Given the description of an element on the screen output the (x, y) to click on. 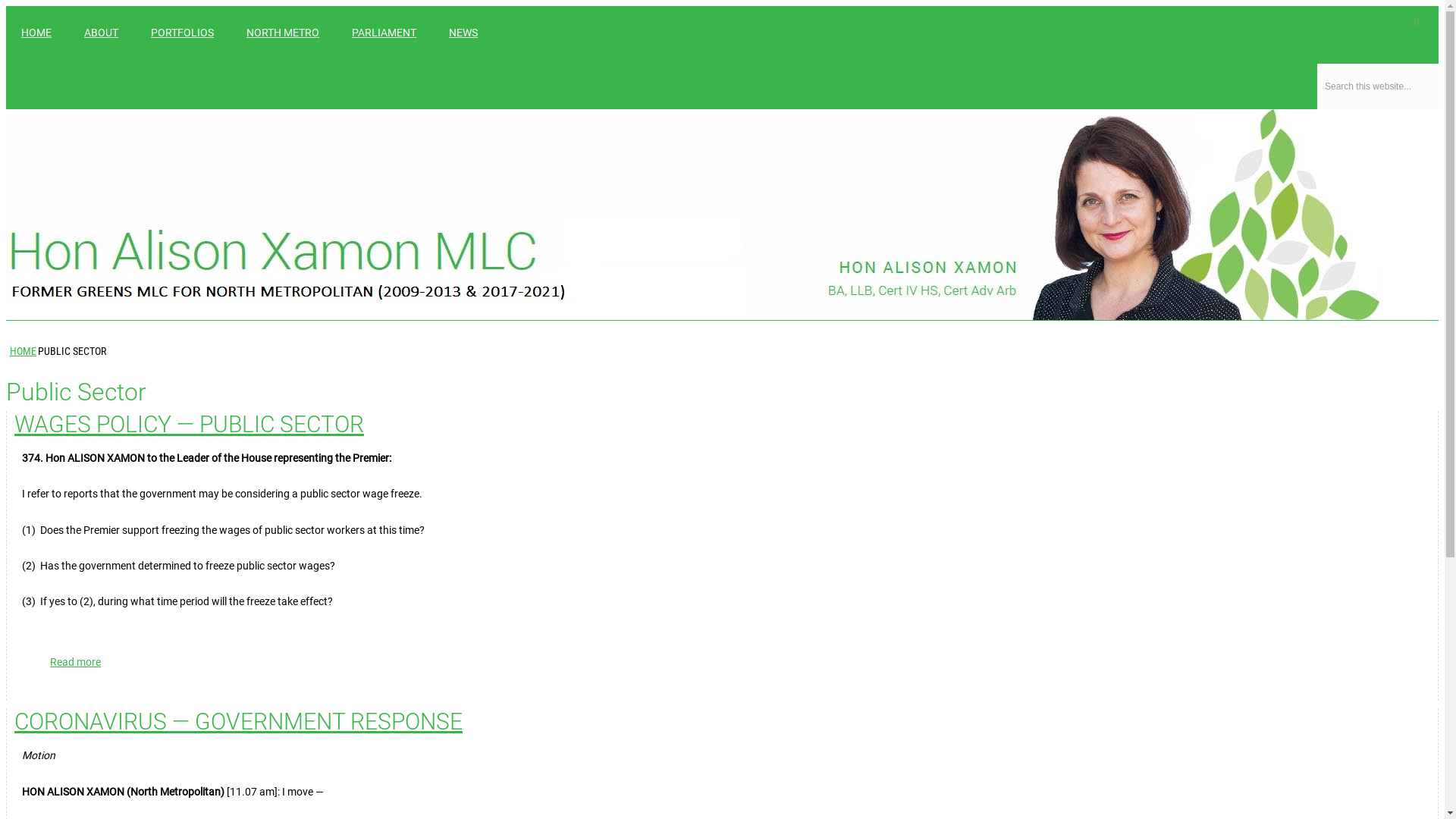
PARLIAMENT Element type: text (383, 32)
ABOUT Element type: text (101, 32)
NORTH METRO Element type: text (282, 32)
PORTFOLIOS Element type: text (182, 32)
HOME Element type: text (36, 32)
HOME Element type: text (22, 351)
NEWS Element type: text (462, 32)
Skip to main content Element type: text (54, 6)
